Given the description of an element on the screen output the (x, y) to click on. 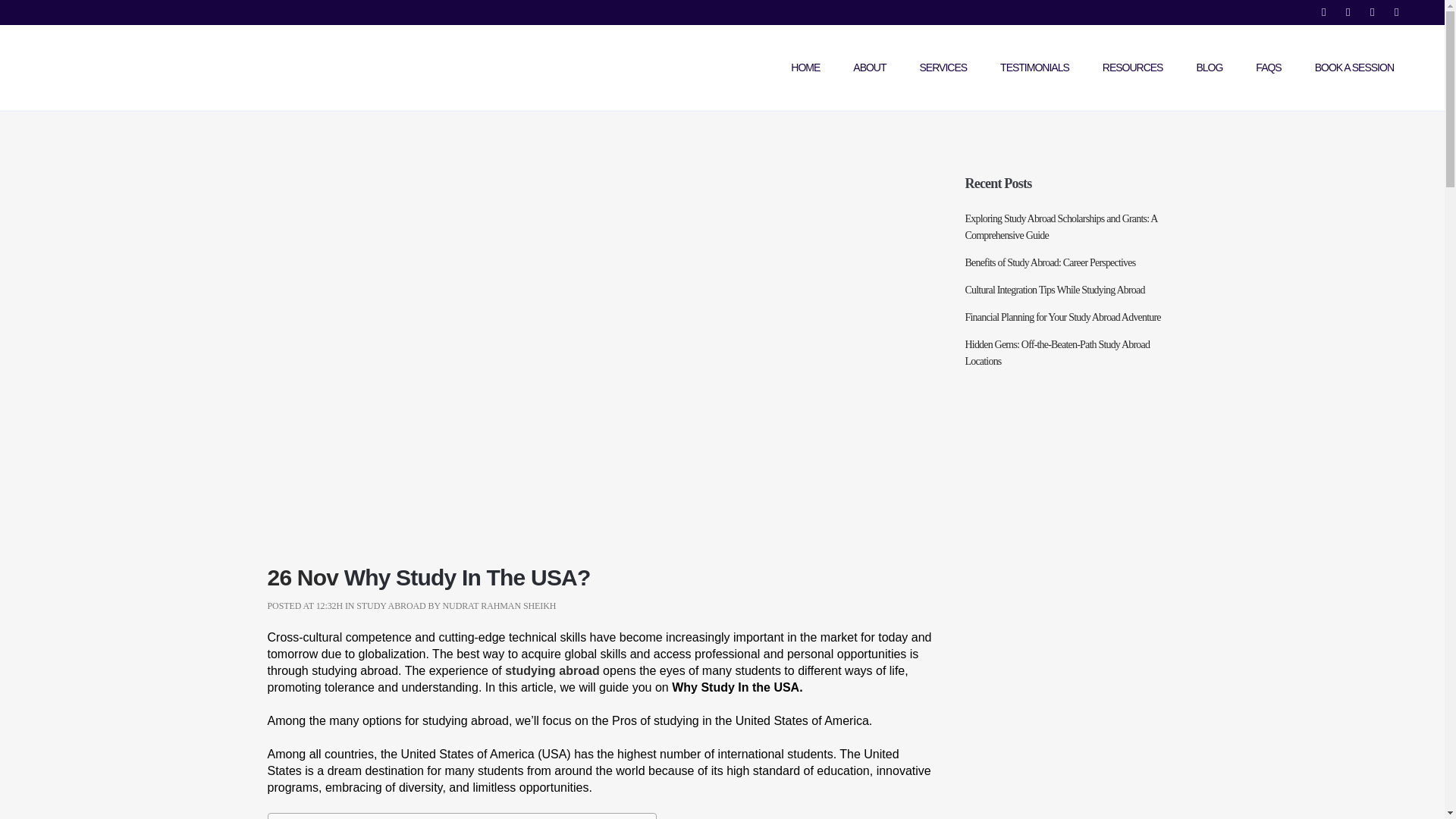
TESTIMONIALS (1035, 67)
SERVICES (943, 67)
BOOK A SESSION (1354, 67)
RESOURCES (1132, 67)
STUDY ABROAD (390, 605)
